Given the description of an element on the screen output the (x, y) to click on. 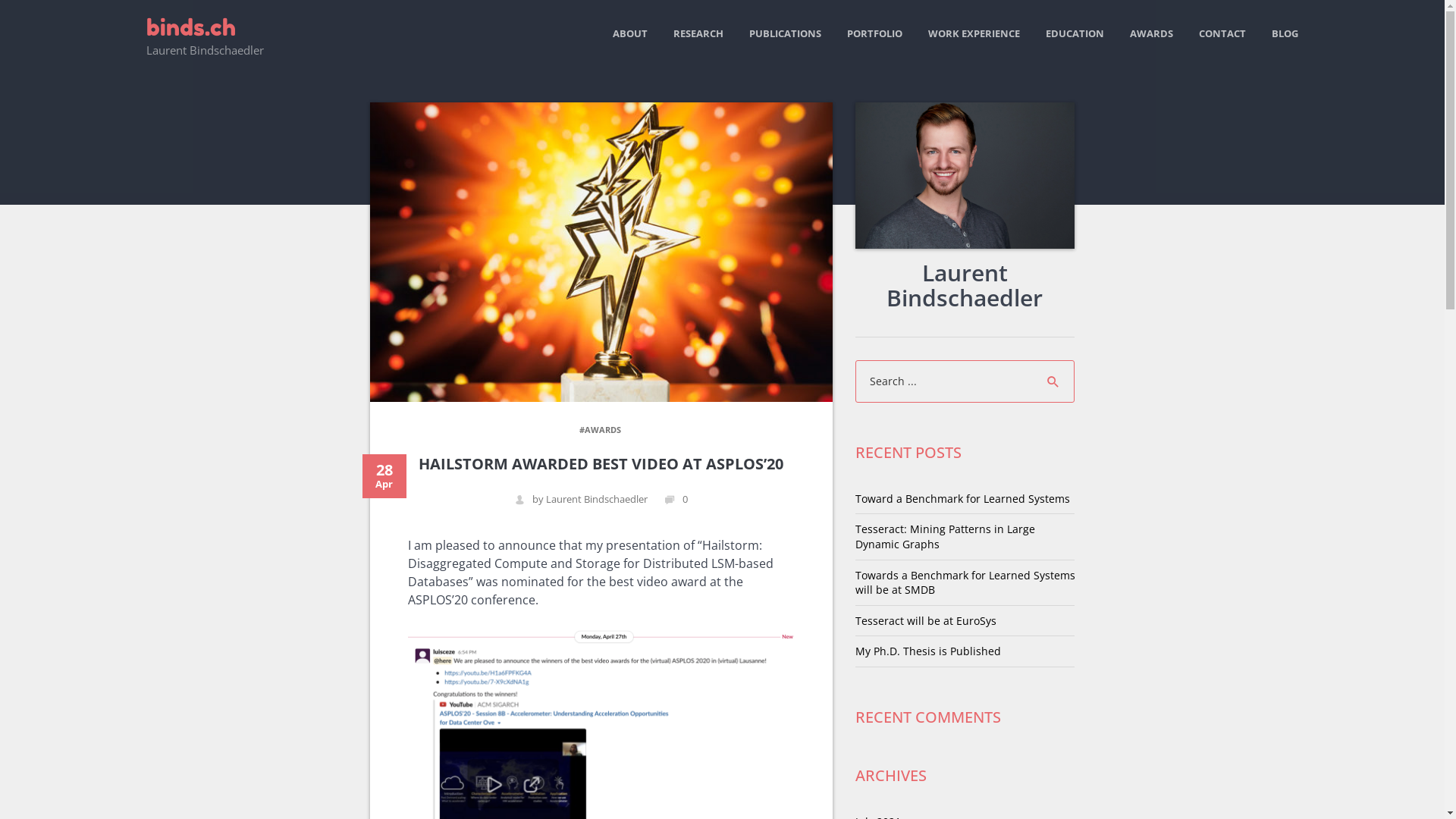
#AWARDS Element type: text (600, 429)
binds.ch Element type: text (190, 26)
WORK EXPERIENCE Element type: text (973, 33)
EDUCATION Element type: text (1074, 33)
Search for: Element type: hover (956, 381)
Toward a Benchmark for Learned Systems Element type: text (962, 498)
My Ph.D. Thesis is Published Element type: text (928, 650)
RESEARCH Element type: text (698, 33)
Tesseract: Mining Patterns in Large Dynamic Graphs Element type: text (945, 536)
PORTFOLIO Element type: text (874, 33)
ABOUT Element type: text (629, 33)
PUBLICATIONS Element type: text (785, 33)
Tesseract will be at EuroSys Element type: text (925, 620)
Search Element type: text (1052, 380)
AWARDS Element type: text (1151, 33)
Towards a Benchmark for Learned Systems will be at SMDB Element type: text (965, 582)
0 Element type: text (675, 498)
BLOG Element type: text (1284, 33)
by Laurent Bindschaedler Element type: text (580, 498)
CONTACT Element type: text (1221, 33)
